Given the description of an element on the screen output the (x, y) to click on. 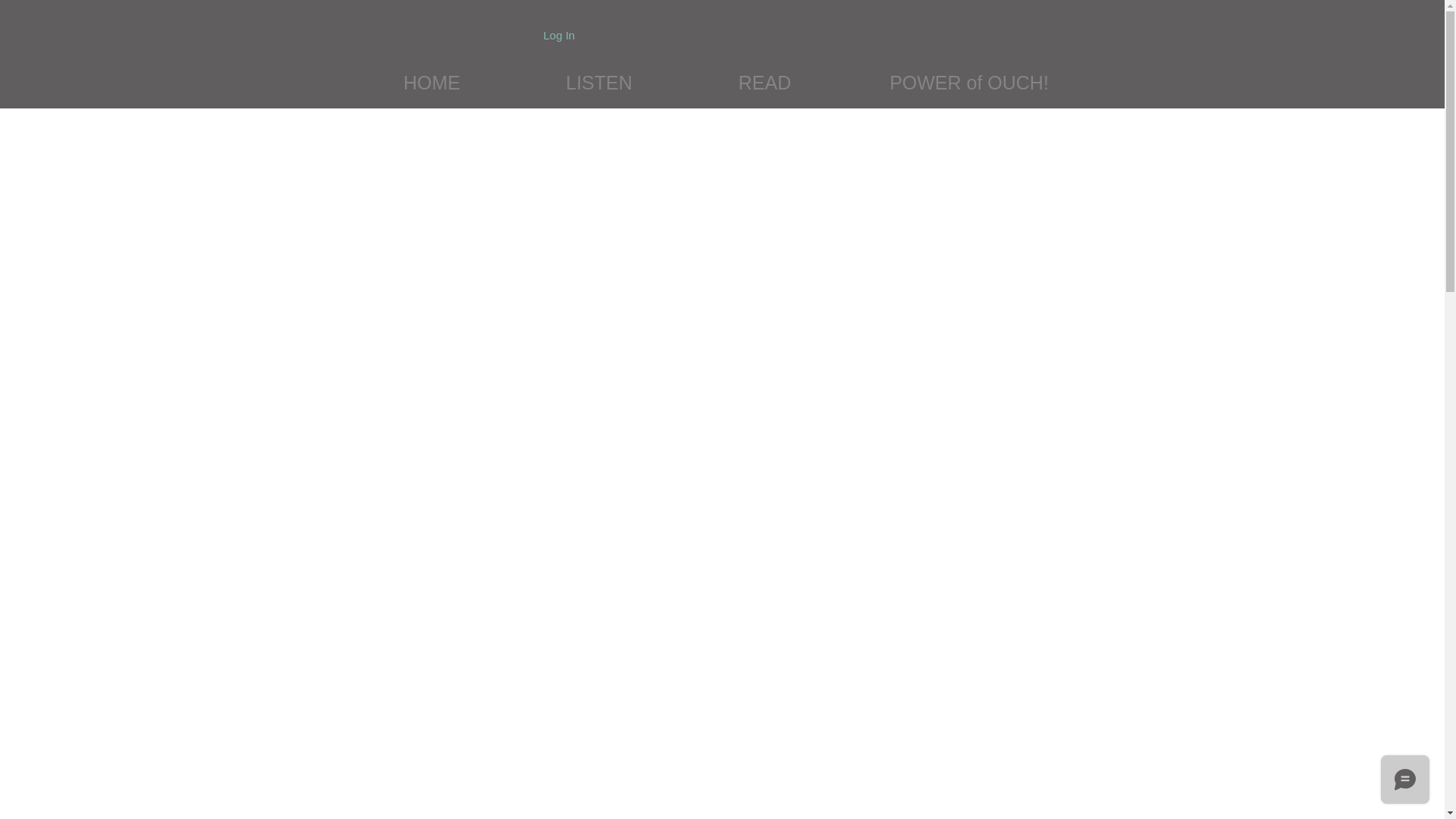
Log In (558, 34)
HOME (431, 70)
POWER of OUCH! (969, 70)
READ (764, 70)
LISTEN (598, 70)
